Given the description of an element on the screen output the (x, y) to click on. 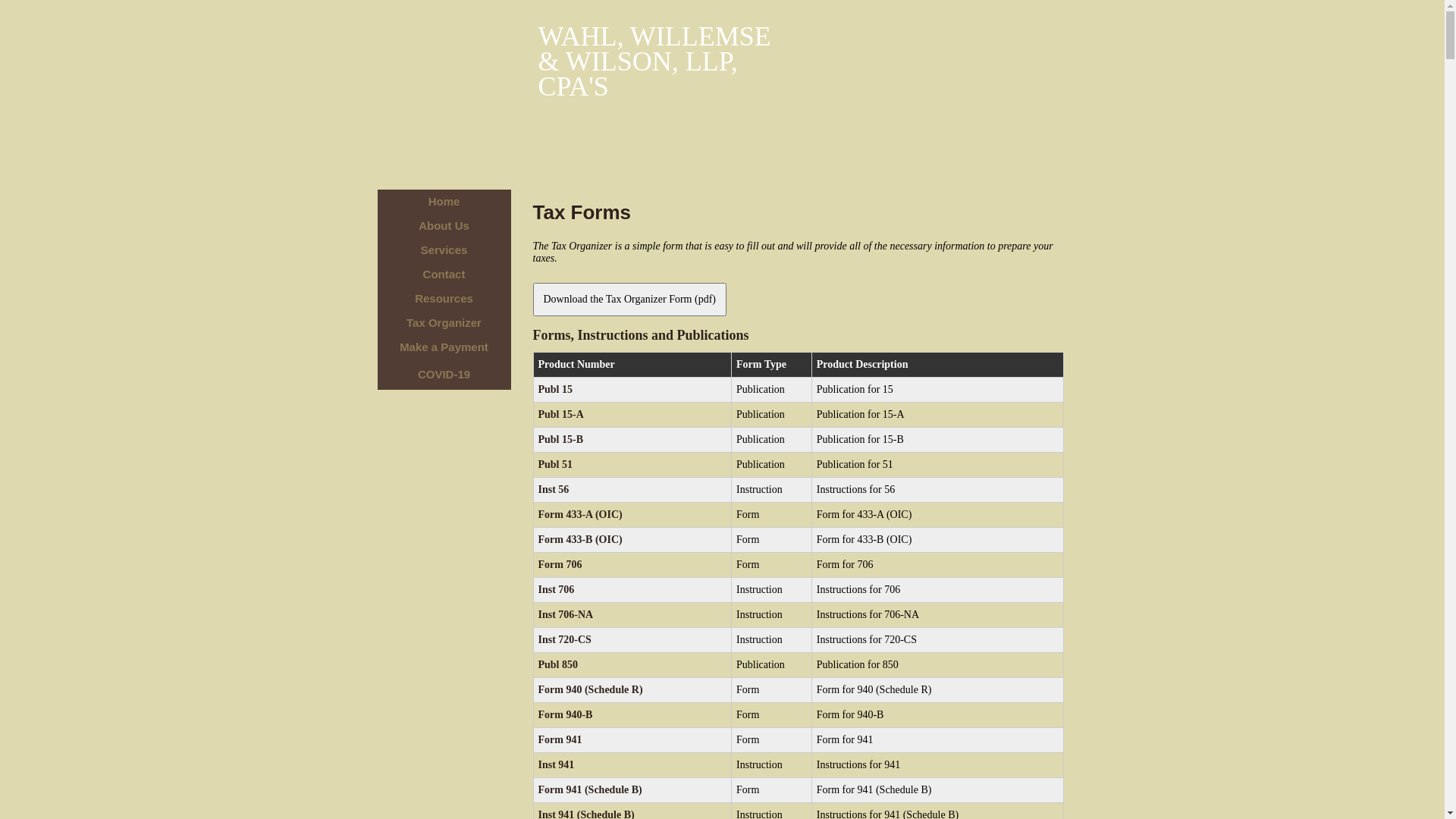
Publ 15-A Element type: text (560, 414)
Inst 941 Element type: text (556, 764)
Form 433-B (OIC) Element type: text (580, 539)
Home Element type: text (444, 201)
COVID-19 Element type: text (444, 374)
Download the Tax Organizer Form (pdf) Element type: text (629, 298)
Form 941 Element type: text (560, 739)
Make a Payment Element type: text (444, 347)
Inst 56 Element type: text (553, 489)
Form 433-A (OIC) Element type: text (580, 514)
Form 940 (Schedule R) Element type: text (590, 689)
WAHL, WILLEMSE & WILSON, LLP, CPA'S Element type: text (659, 61)
Contact Element type: text (444, 274)
Resources Element type: text (444, 298)
Publ 850 Element type: text (558, 664)
Publ 15-B Element type: text (560, 439)
Form 706 Element type: text (560, 564)
Inst 720-CS Element type: text (564, 639)
Inst 706 Element type: text (556, 589)
Inst 706-NA Element type: text (565, 614)
Form 941 (Schedule B) Element type: text (590, 789)
Services Element type: text (444, 250)
About Us Element type: text (444, 225)
Publ 15 Element type: text (555, 389)
Form 940-B Element type: text (565, 714)
Publ 51 Element type: text (555, 464)
Tax Organizer Element type: text (444, 322)
Download the Tax Organizer Form (pdf) Element type: text (629, 299)
